Given the description of an element on the screen output the (x, y) to click on. 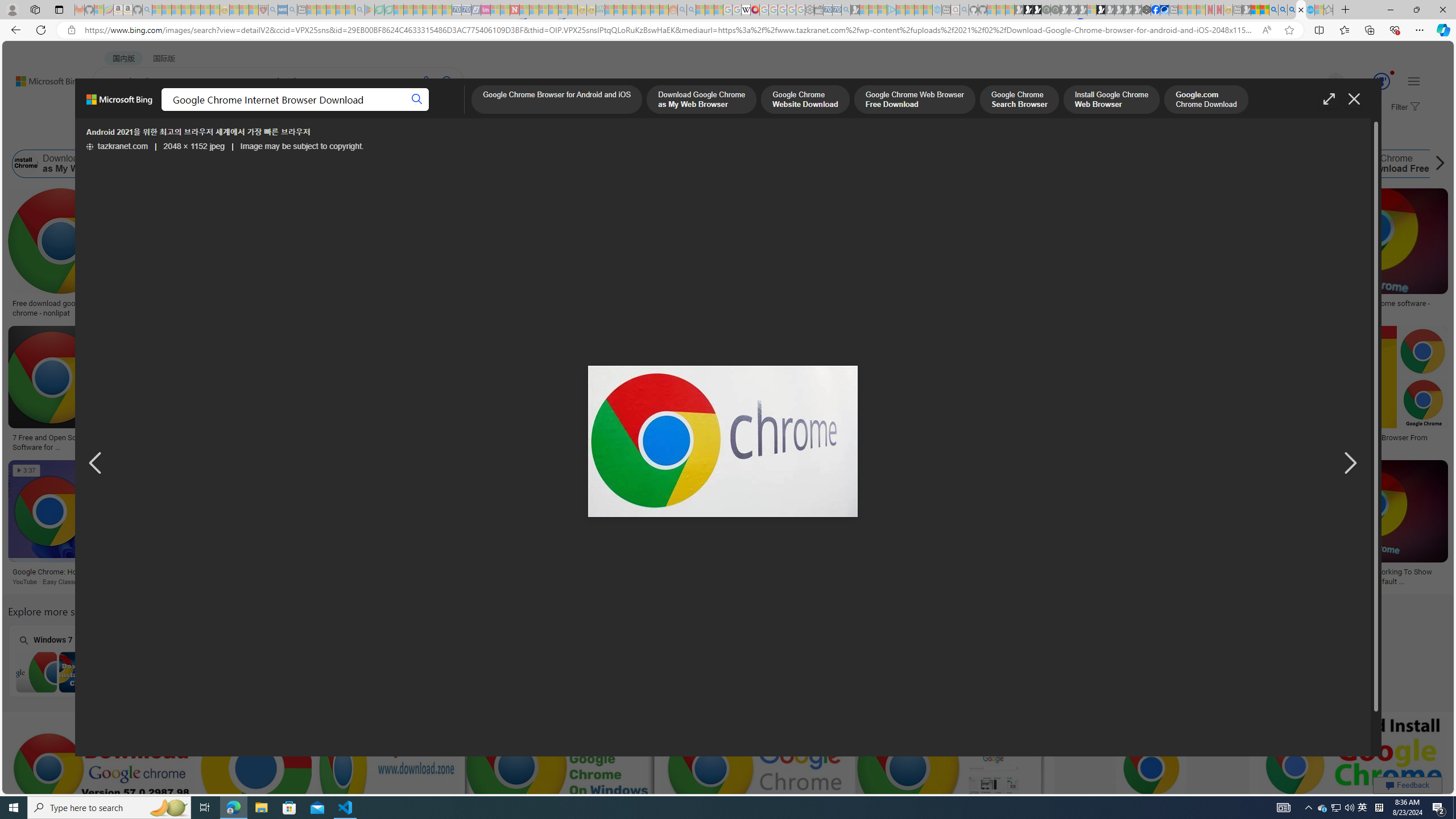
DICT (407, 111)
Windows 7 (78, 660)
2009 Bing officially replaced Live Search on June 3 - Search (1283, 9)
Windows 10 (515, 660)
Utah sues federal government - Search - Sleeping (690, 9)
Google Chrome Fast Download (1035, 163)
Google Chrome Search Browser (480, 163)
AirNow.gov (1163, 9)
Recipes - MSN - Sleeping (234, 9)
The latest version of google chrome free download - gaimacro (980, 441)
License (378, 135)
VIDEOS (310, 111)
